Given the description of an element on the screen output the (x, y) to click on. 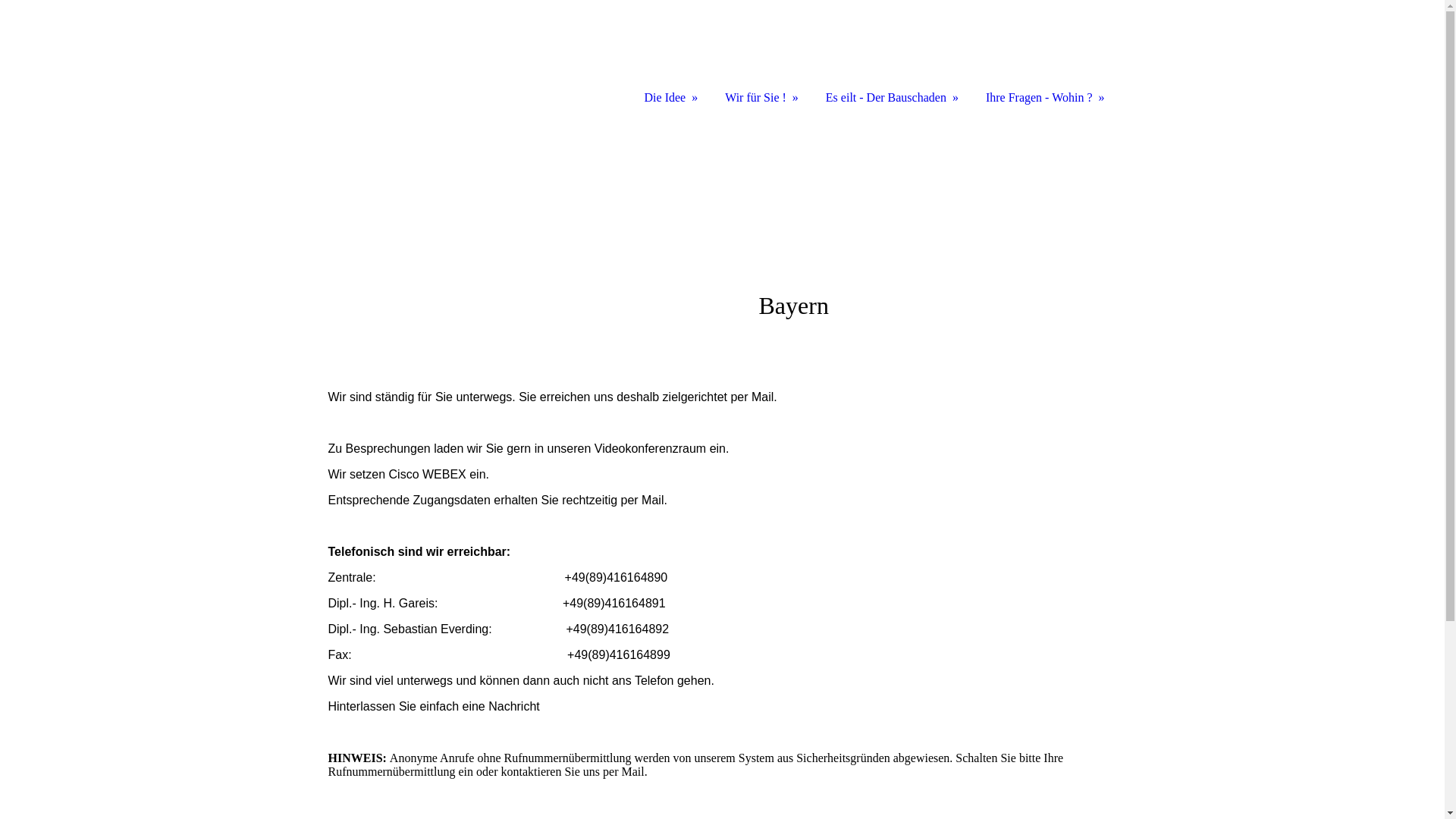
Die Idee Element type: text (669, 54)
Es eilt - Der Bauschaden Element type: text (890, 54)
Ihre Fragen - Wohin ? Element type: text (1043, 54)
